Given the description of an element on the screen output the (x, y) to click on. 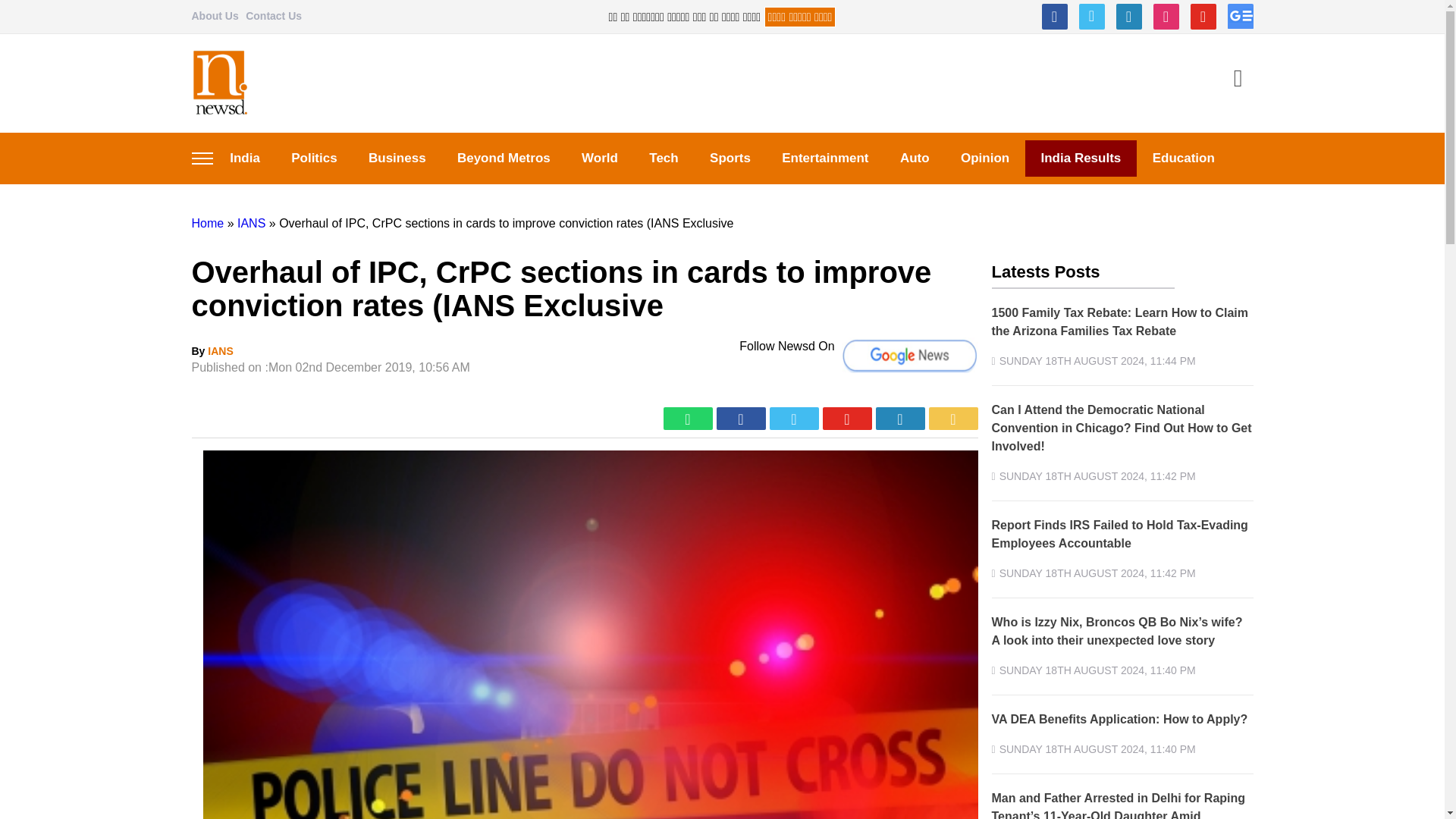
Youtube (1203, 16)
Beyond Metros (503, 158)
Business (396, 158)
Education (1183, 158)
Sports (729, 158)
IANS (220, 350)
Sports (729, 158)
Opinion (984, 158)
Politics (314, 158)
About Us (214, 15)
